Given the description of an element on the screen output the (x, y) to click on. 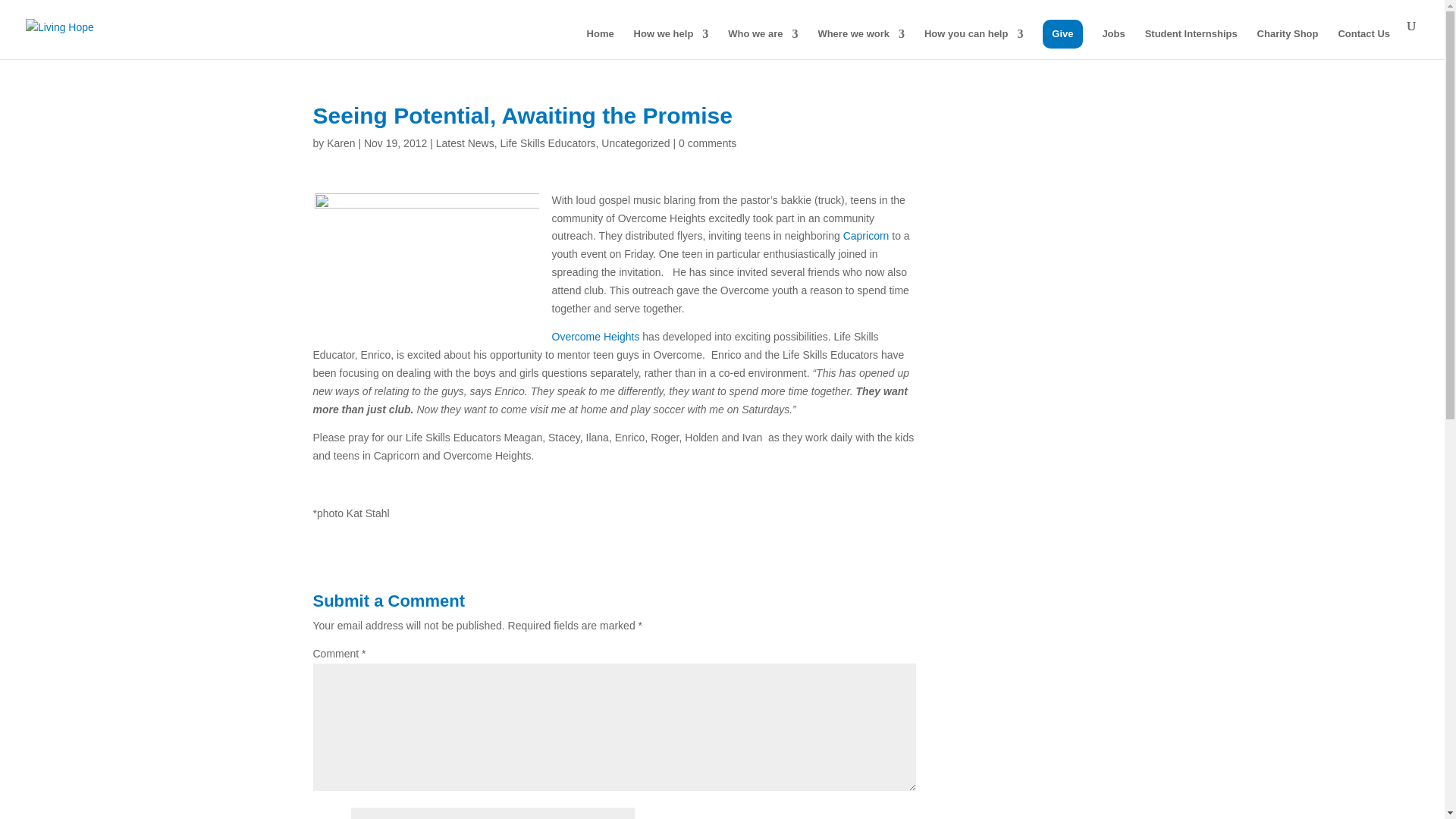
Student Internships (1190, 43)
Charity Shop (1288, 43)
How you can help (973, 43)
overcome kat stahl (426, 267)
Where we work (860, 43)
Who we are (762, 43)
Contact Us (1364, 43)
How we help (671, 43)
Posts by Karen (340, 143)
Home (600, 43)
